Given the description of an element on the screen output the (x, y) to click on. 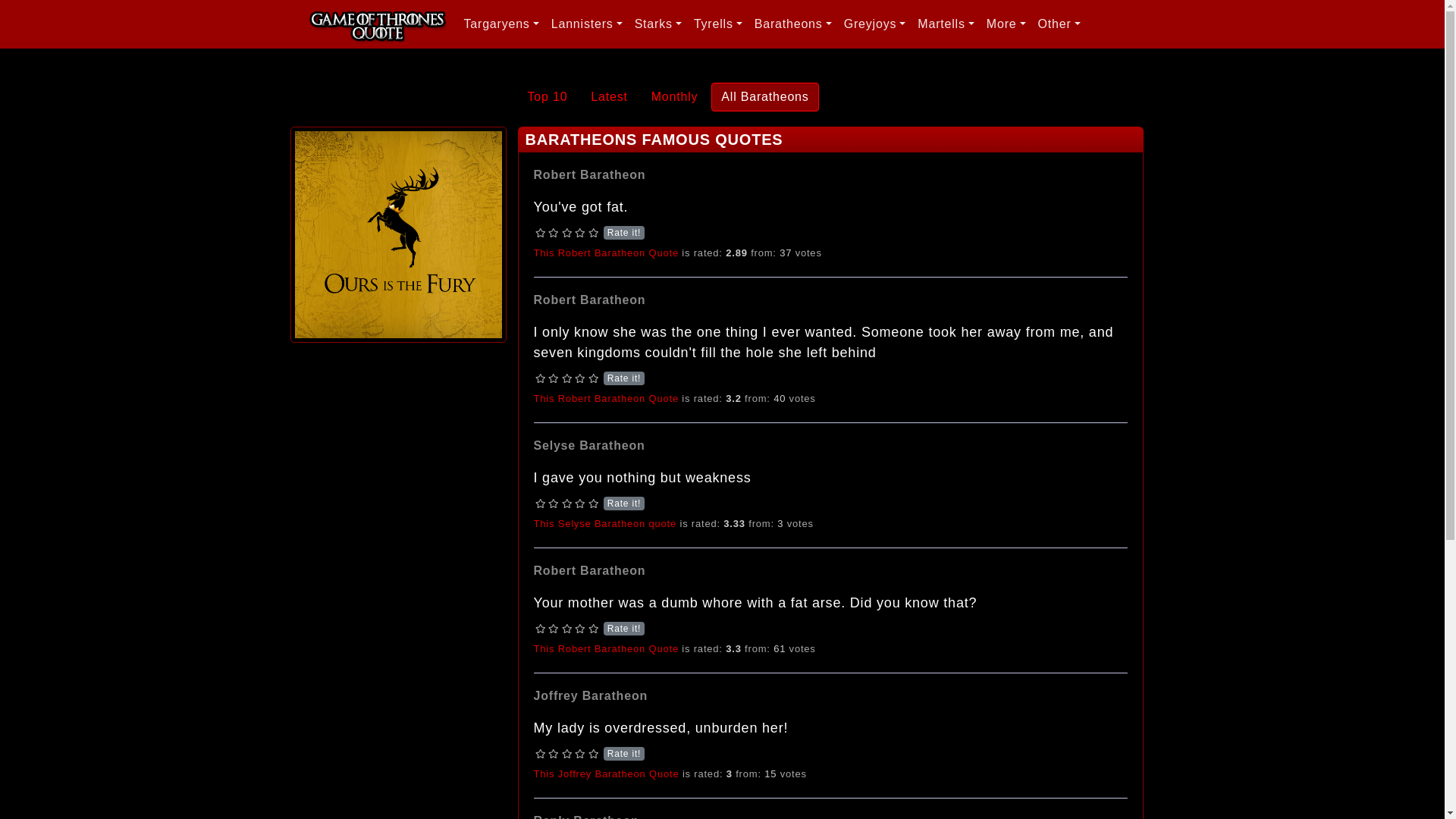
You've got fat. (606, 252)
Targaryens (501, 24)
Baratheons (397, 234)
I gave you nothing but weakness (605, 523)
Baratheons (793, 24)
My lady is overdressed, unburden her! (606, 773)
Rate it! (566, 628)
Rate it! (566, 753)
Lannisters (586, 24)
Rate it! (566, 377)
Tyrells (717, 24)
Rate it! (566, 232)
Rate it! (566, 503)
